Given the description of an element on the screen output the (x, y) to click on. 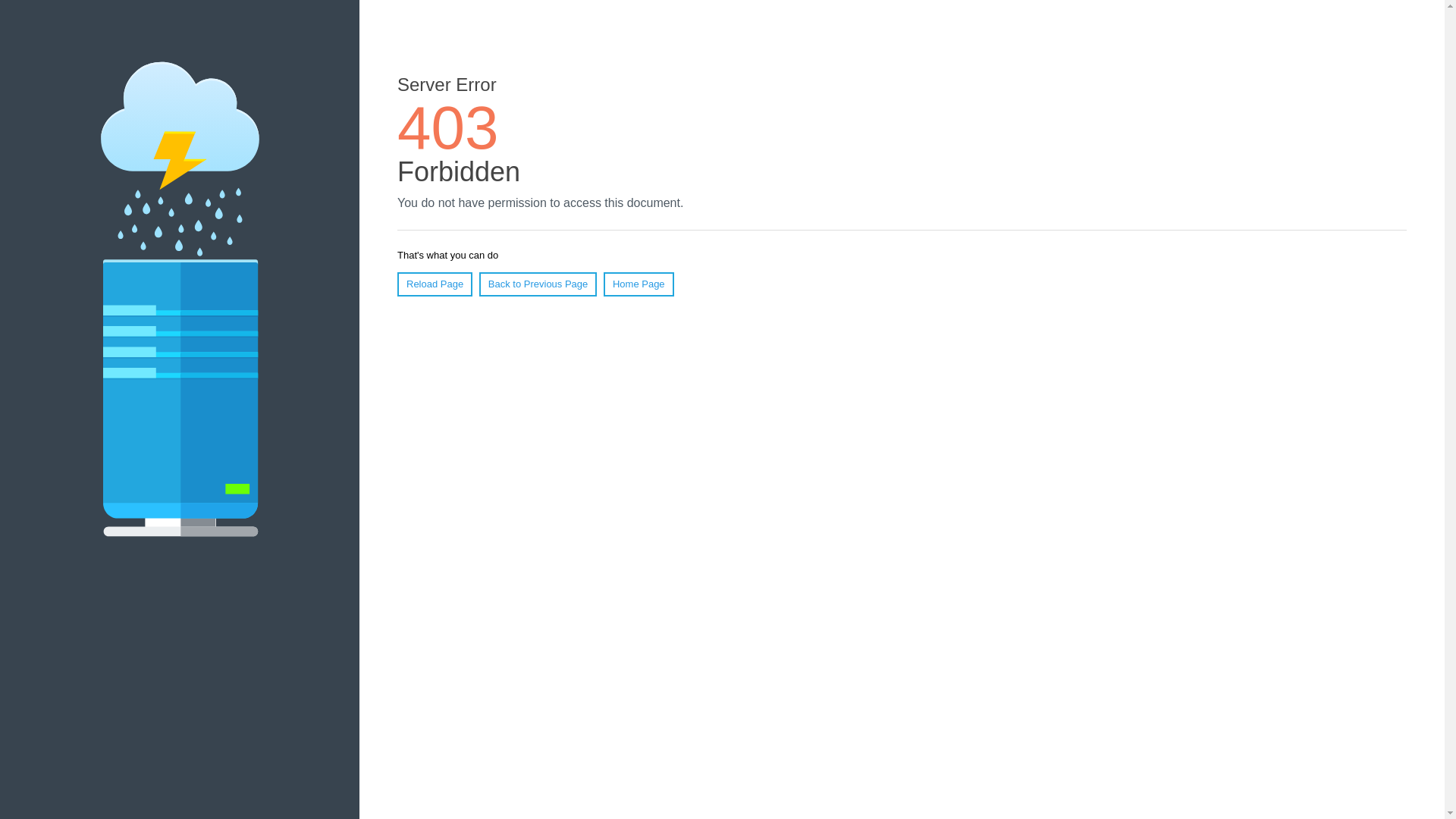
Reload Page Element type: text (434, 284)
Back to Previous Page Element type: text (538, 284)
Home Page Element type: text (638, 284)
